Given the description of an element on the screen output the (x, y) to click on. 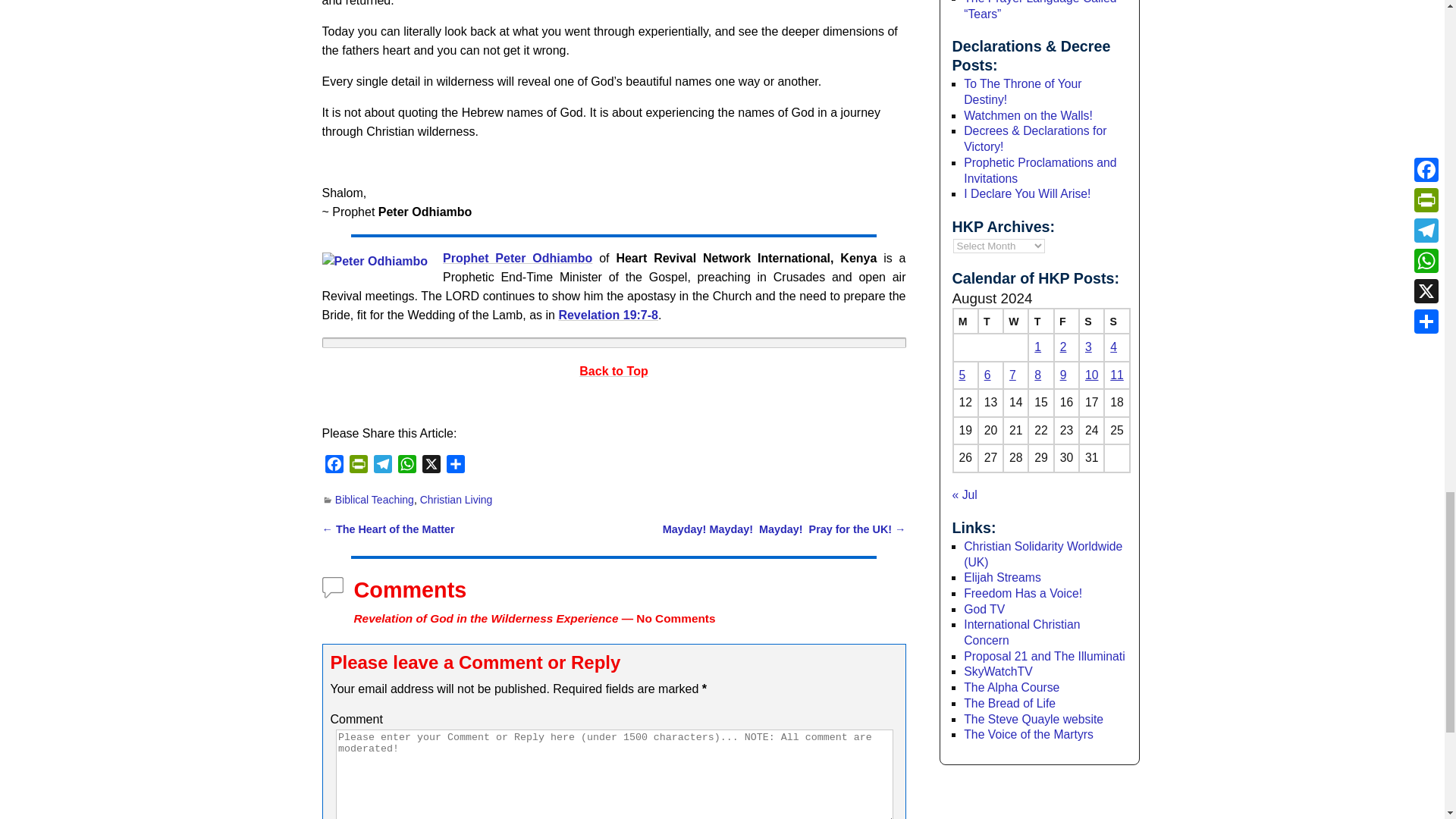
Facebook (333, 466)
Revelation 19:7-8 (607, 314)
Peter Odhiambo (374, 261)
PrintFriendly (357, 466)
X (430, 466)
Tuesday (990, 320)
Prophet Peter Odhiambo (517, 257)
Monday (964, 320)
Wednesday (1015, 320)
Thursday (1039, 320)
